Given the description of an element on the screen output the (x, y) to click on. 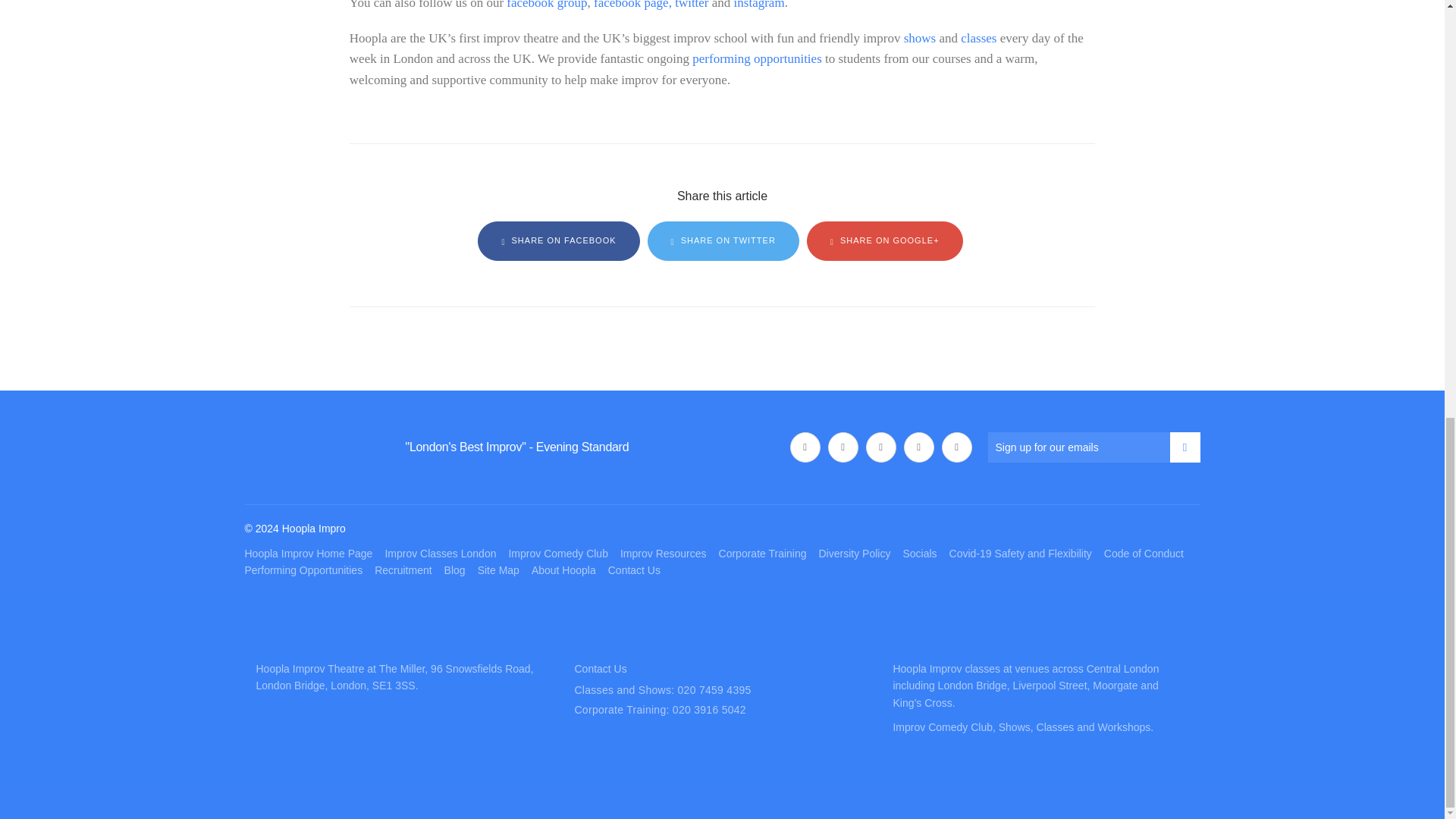
Site Map (498, 570)
"London's Best Improv" - Evening Standard (516, 447)
Improv Classes London (440, 553)
facebook group (546, 4)
performing opportunities (757, 58)
shows (920, 38)
facebook page, (632, 4)
Code of Conduct (1143, 553)
Corporate Training (762, 553)
Hoopla Improv Home Page (308, 553)
instagram (758, 4)
Blog (454, 570)
Contact Us (634, 570)
classes (977, 38)
Covid-19 Safety and Flexibility (1020, 553)
